Given the description of an element on the screen output the (x, y) to click on. 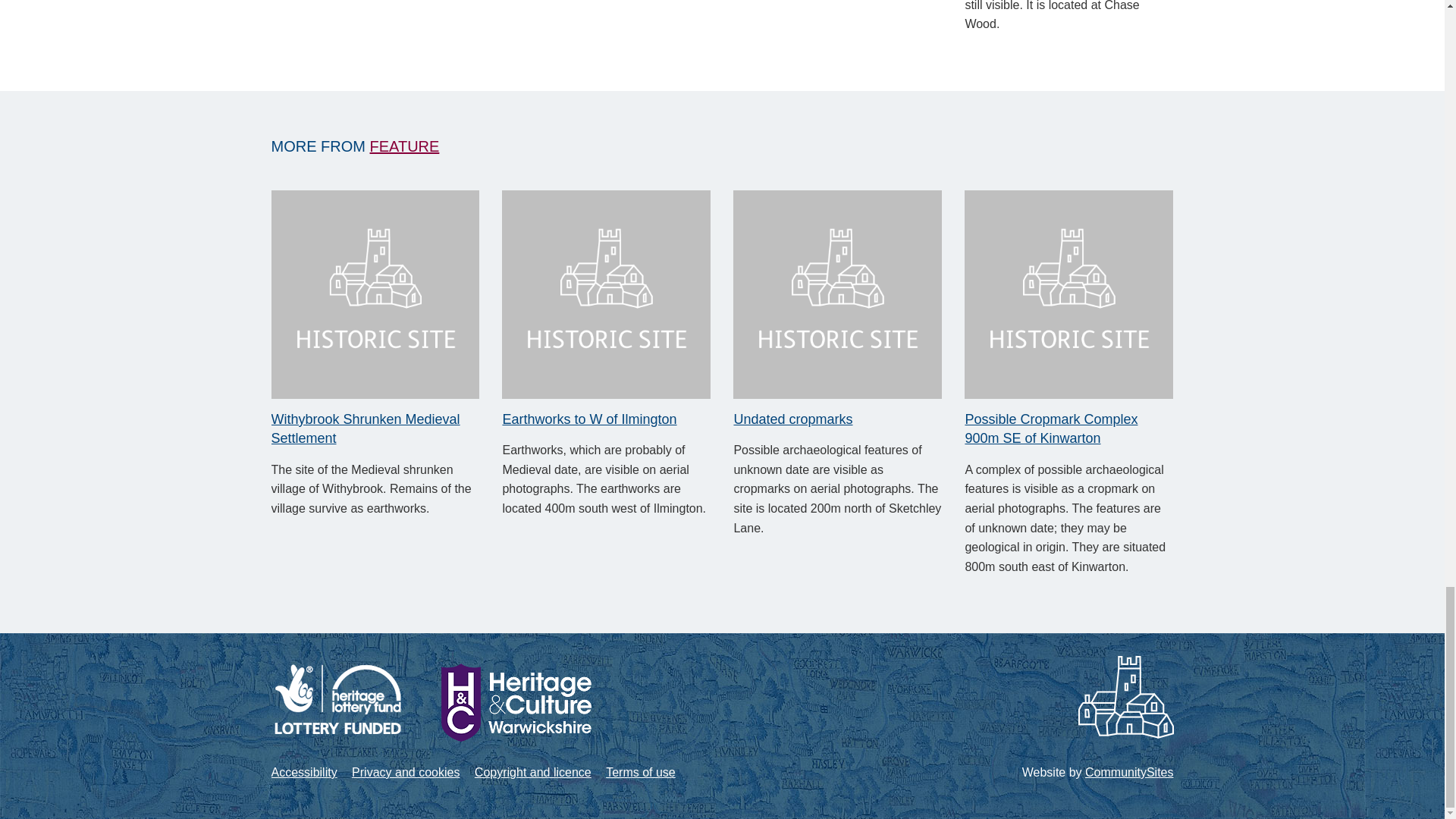
Heritage Lottery Fund (337, 698)
